Given the description of an element on the screen output the (x, y) to click on. 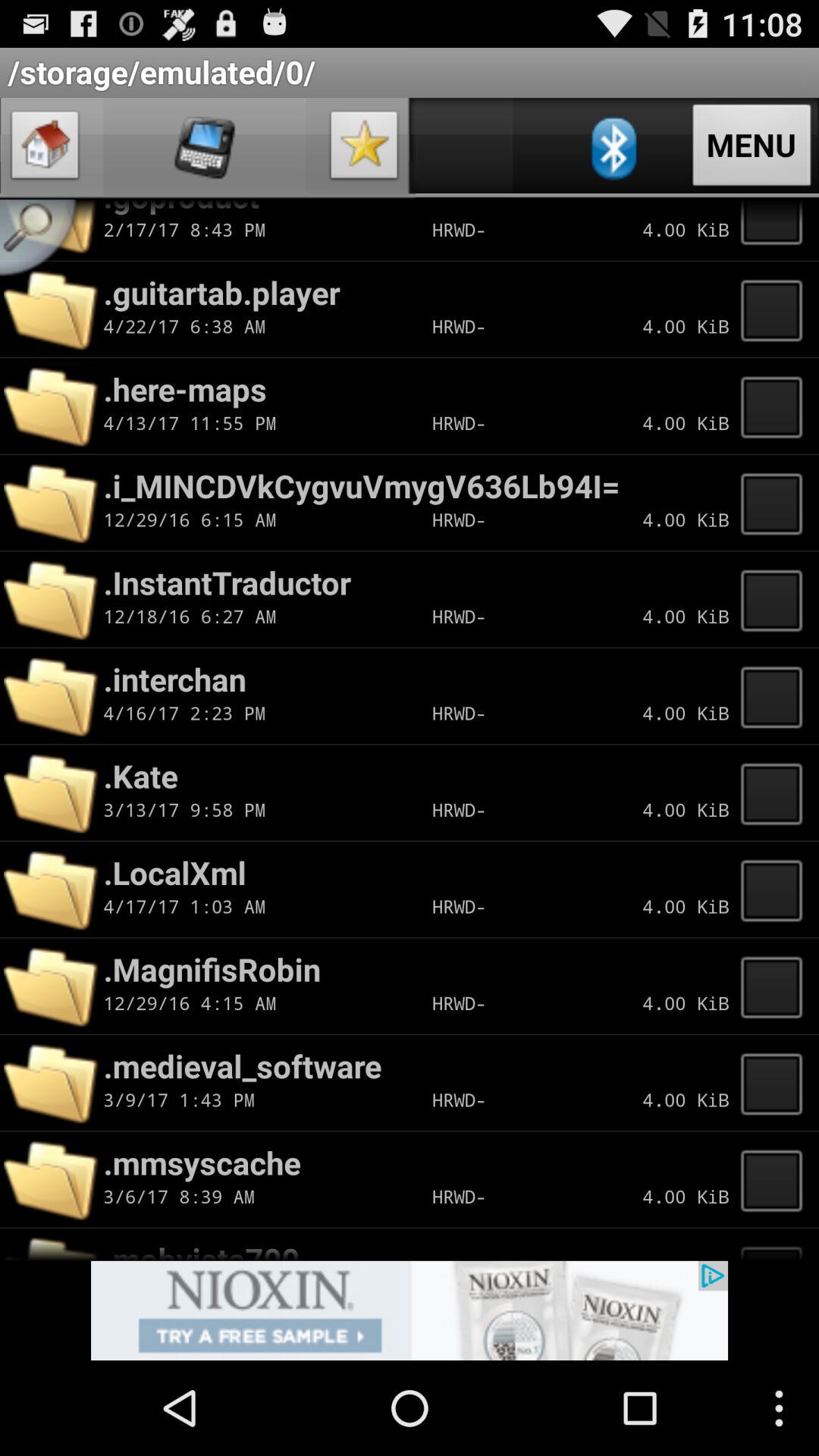
select file (776, 229)
